Given the description of an element on the screen output the (x, y) to click on. 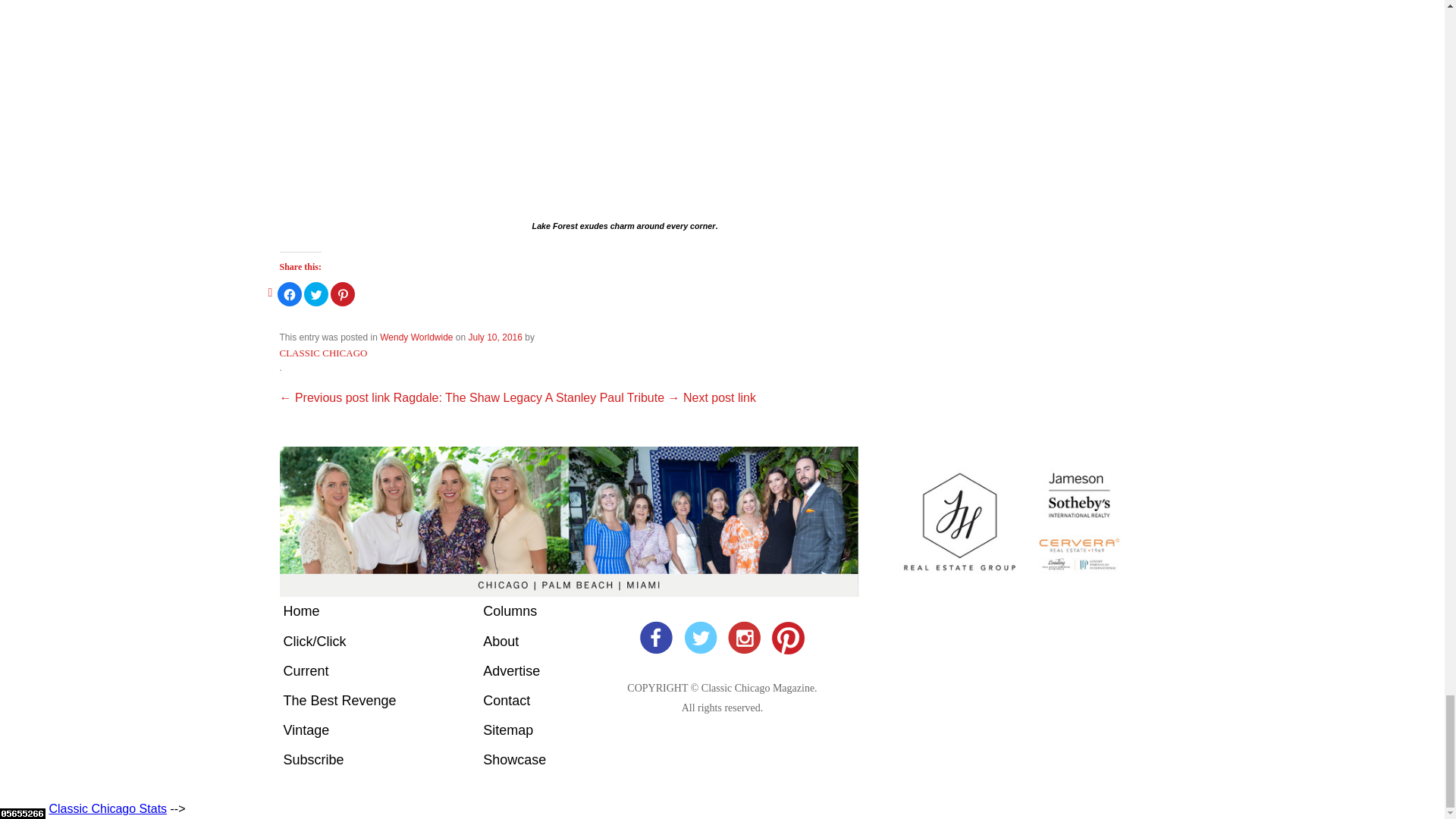
View all posts by Classic Chicago (322, 352)
Click to share on Pinterest (342, 293)
Click to share on Facebook (289, 293)
Click to share on Twitter (316, 293)
2:00 am (495, 337)
